Given the description of an element on the screen output the (x, y) to click on. 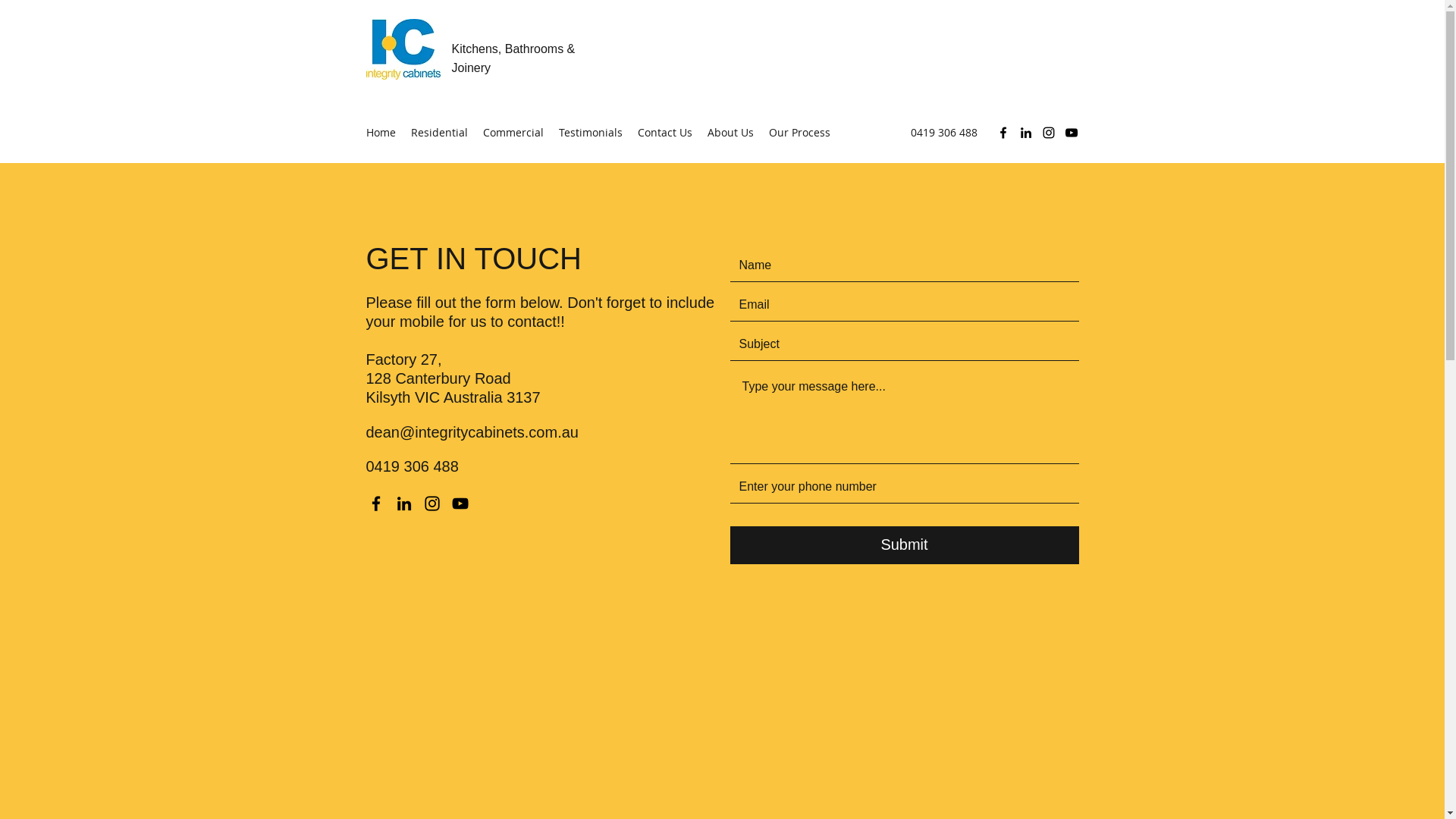
Testimonials Element type: text (589, 132)
About Us Element type: text (729, 132)
Home Element type: text (379, 132)
dean@integritycabinets.com.au Element type: text (471, 431)
Commercial Element type: text (512, 132)
Our Process Element type: text (799, 132)
Residential Element type: text (439, 132)
Contact Us Element type: text (664, 132)
Submit Element type: text (903, 545)
